Given the description of an element on the screen output the (x, y) to click on. 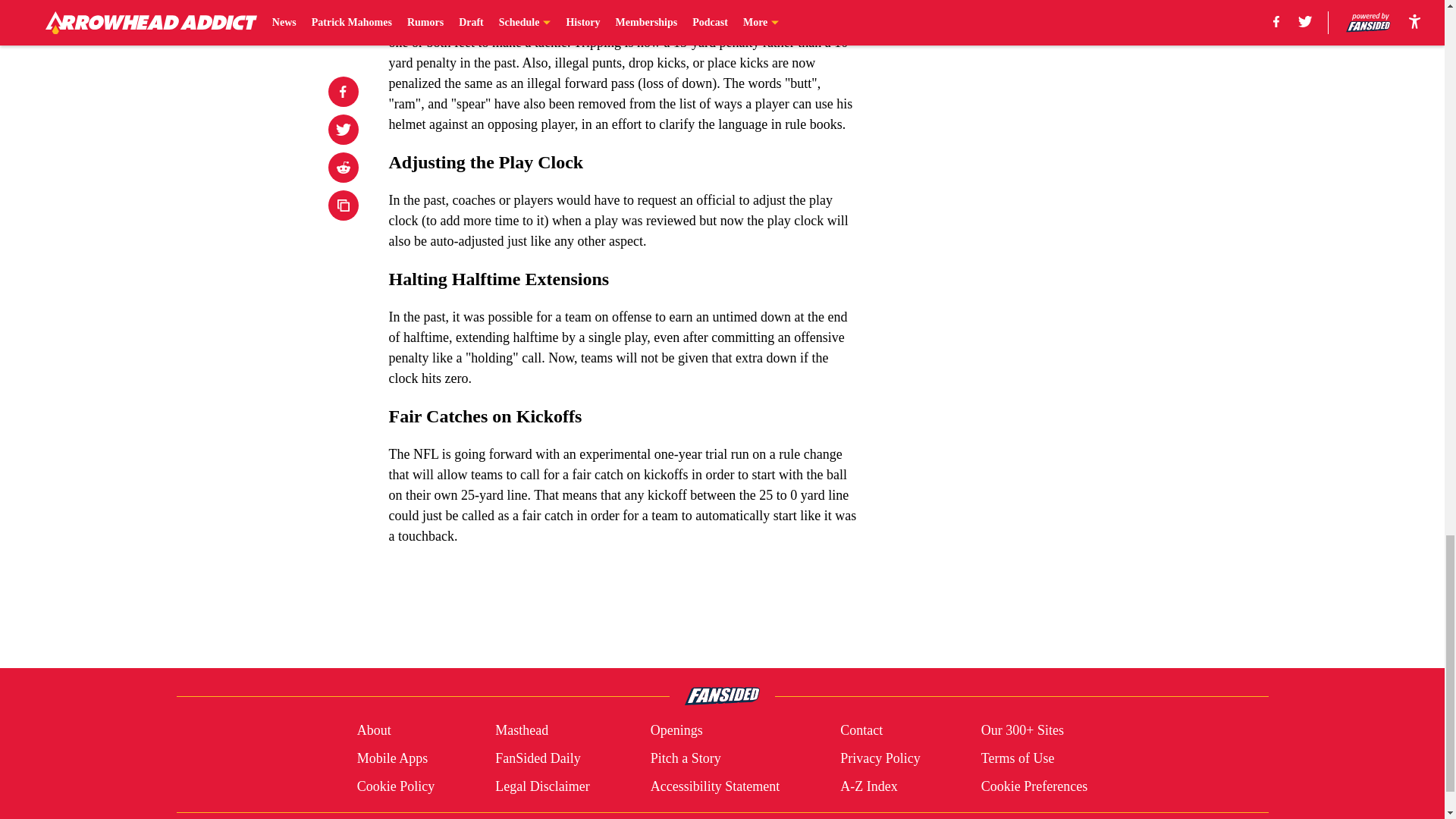
Masthead (521, 730)
Cookie Policy (395, 786)
About (373, 730)
Legal Disclaimer (542, 786)
FanSided Daily (537, 758)
Privacy Policy (880, 758)
Terms of Use (1017, 758)
Openings (676, 730)
Accessibility Statement (714, 786)
Pitch a Story (685, 758)
